Given the description of an element on the screen output the (x, y) to click on. 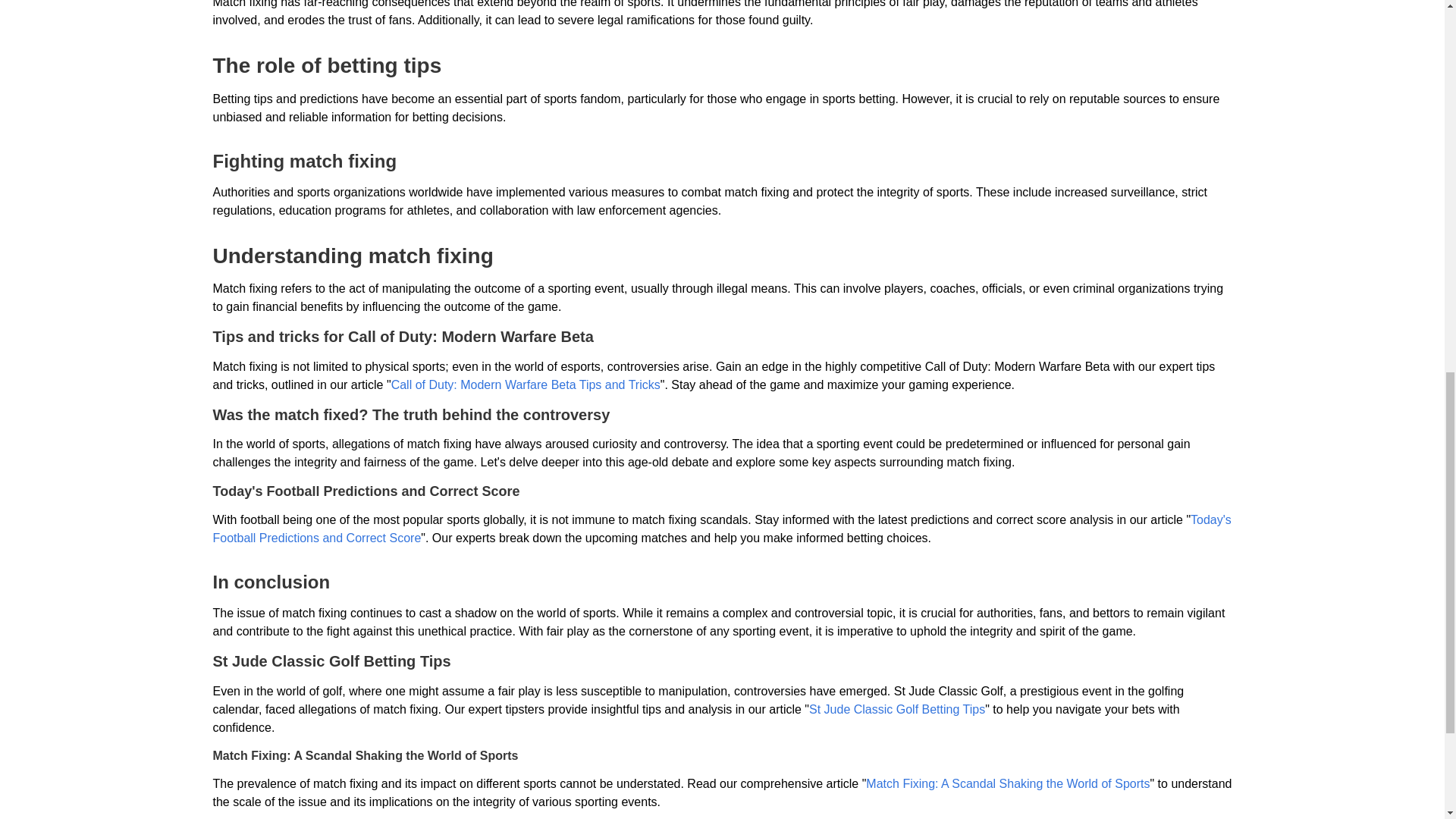
St Jude Classic Golf Betting Tips (897, 708)
Call of Duty: Modern Warfare Beta Tips and Tricks (526, 383)
Today's Football Predictions and Correct Score (721, 528)
Match Fixing: A Scandal Shaking the World of Sports (1008, 783)
